Given the description of an element on the screen output the (x, y) to click on. 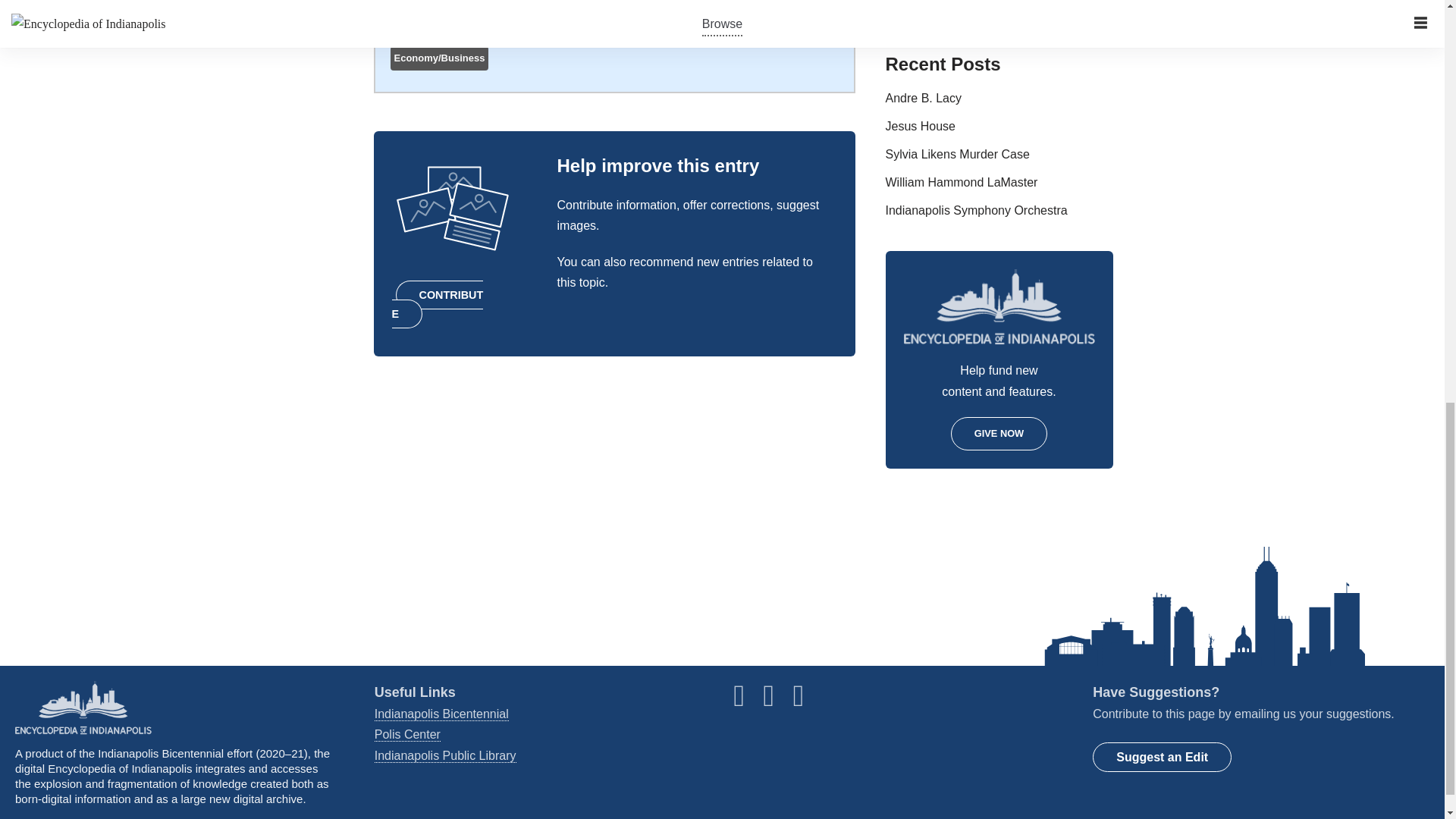
Indy Encyclopedia - Facebook (746, 701)
CONTRIBUTE (437, 303)
Indy Encyclopedia - Instagram (776, 701)
